Given the description of an element on the screen output the (x, y) to click on. 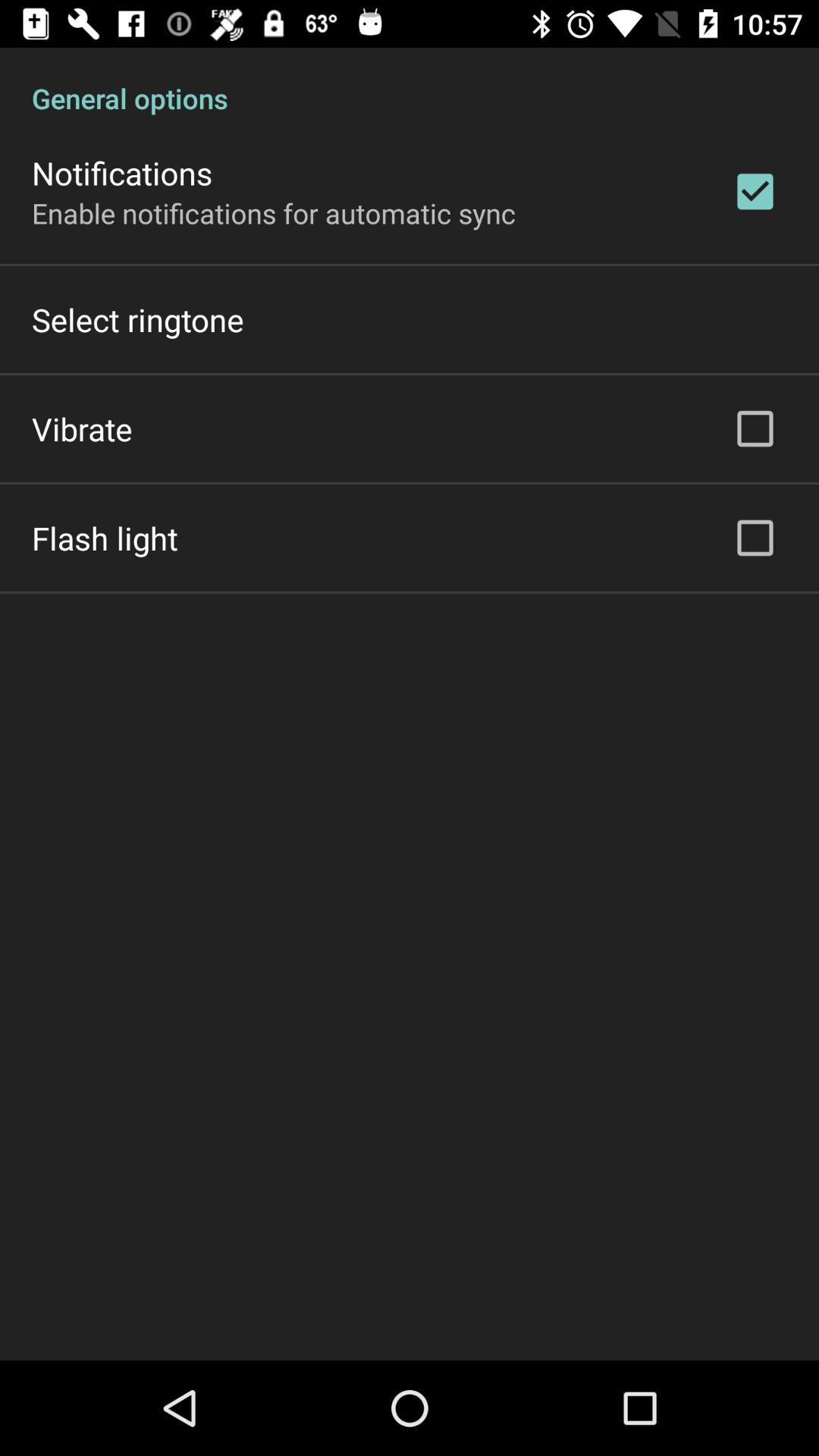
scroll until the general options item (409, 82)
